Given the description of an element on the screen output the (x, y) to click on. 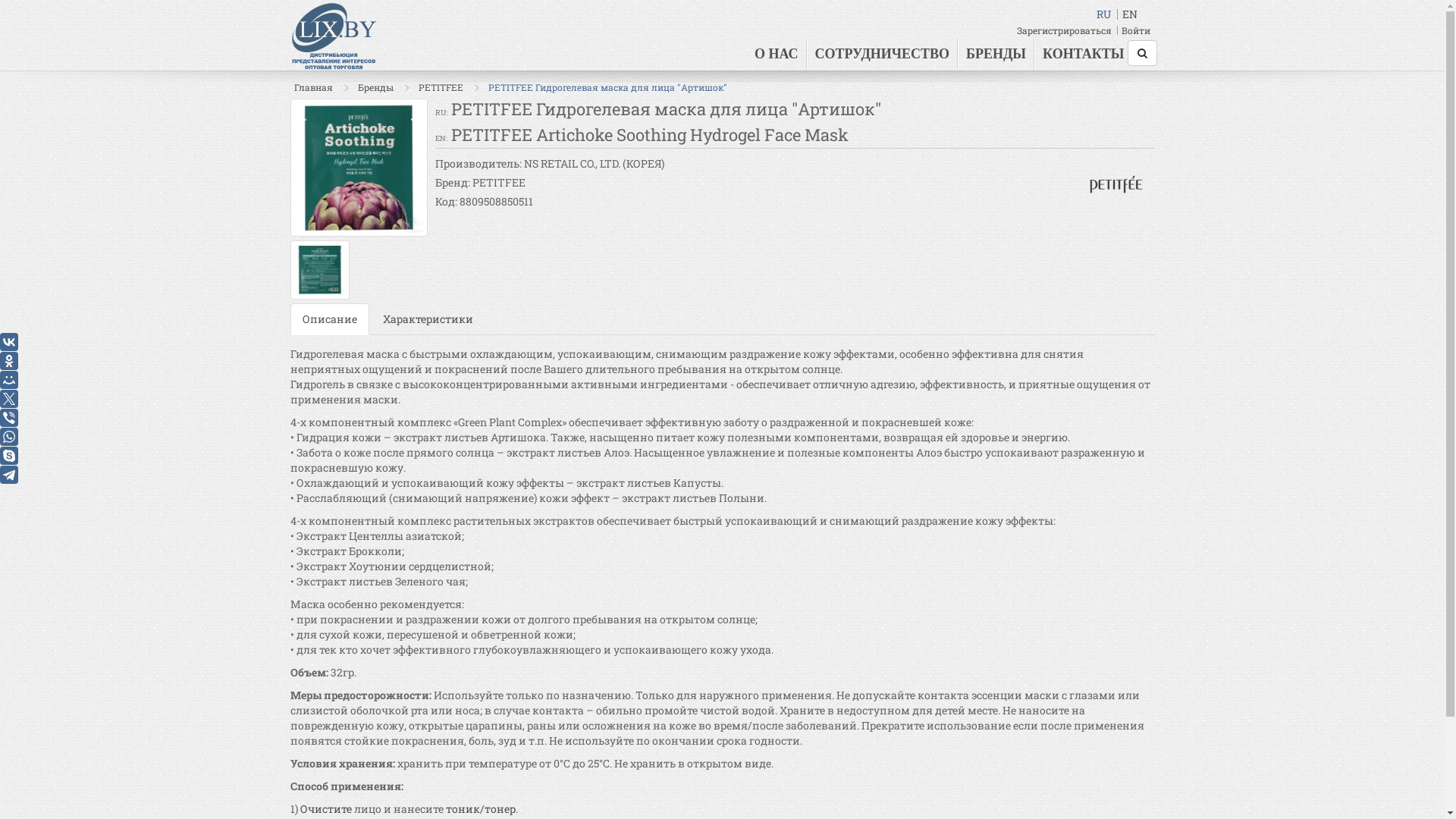
RU Element type: text (1103, 14)
Viber Element type: hover (9, 417)
Telegram Element type: hover (9, 474)
LIX.BY Element type: hover (332, 36)
PETITFEE Element type: text (440, 87)
Twitter Element type: hover (9, 398)
WhatsApp Element type: hover (9, 436)
EN Element type: text (1129, 14)
Skype Element type: hover (9, 455)
